Given the description of an element on the screen output the (x, y) to click on. 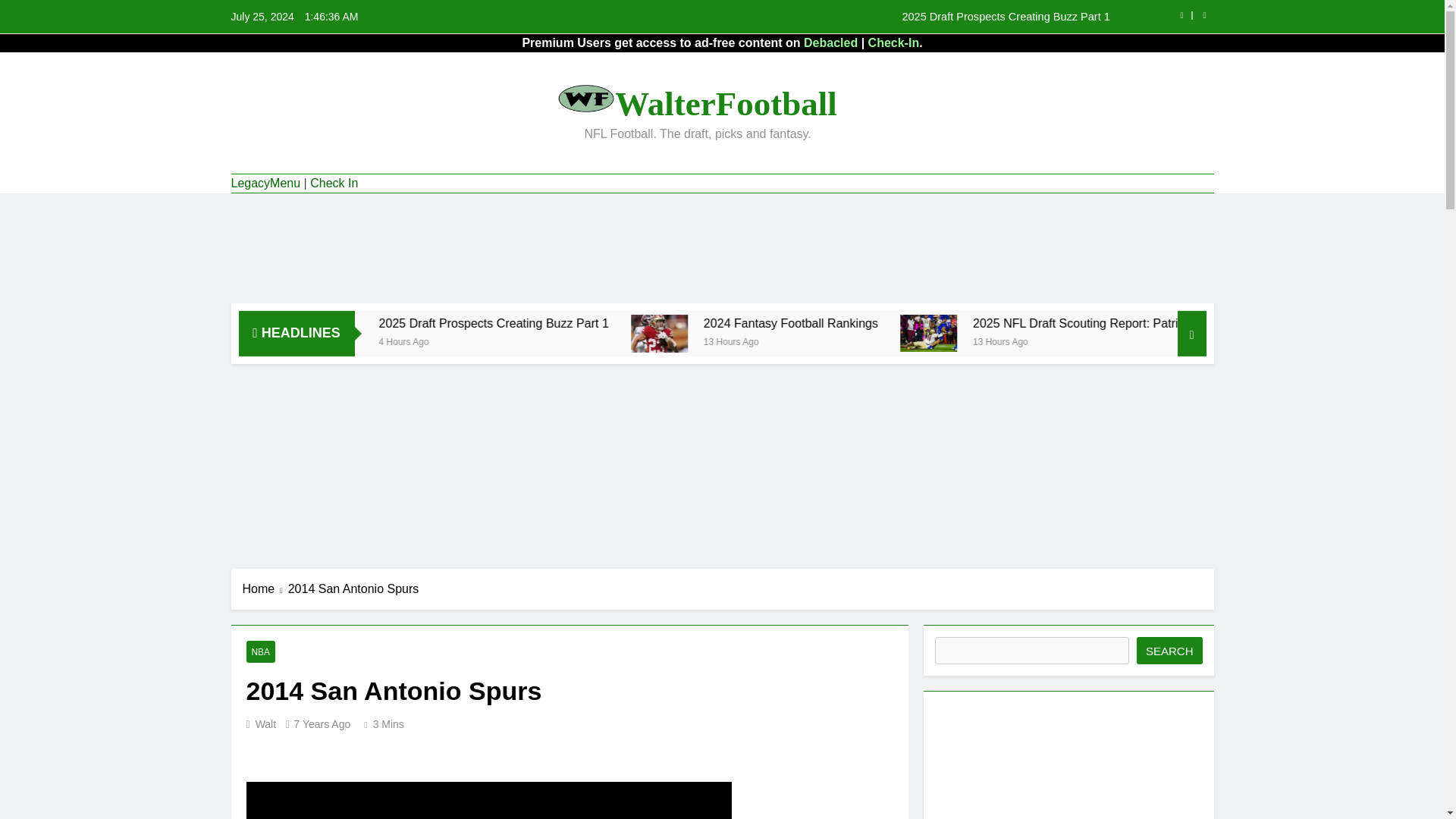
NFL Disaster Ratings: Retirement and Injury (340, 323)
WalterFootball (724, 103)
2025 Draft Prospects Creating Buzz Part 1 (817, 16)
Check In (334, 183)
Debacled (830, 42)
Check-In (893, 42)
LegacyMenu (264, 183)
2025 Draft Prospects Creating Buzz Part 1 (817, 16)
